Given the description of an element on the screen output the (x, y) to click on. 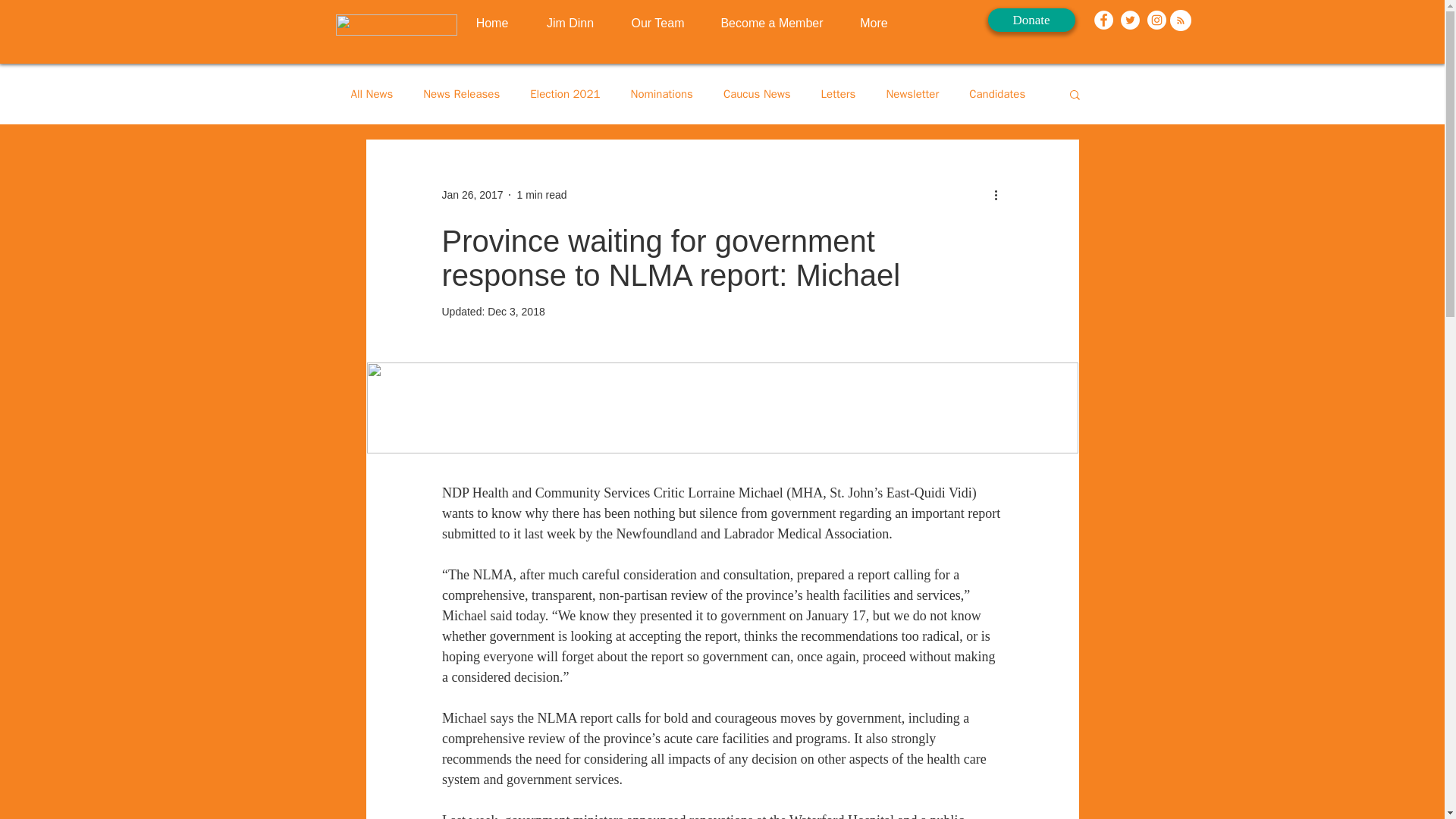
Jim Dinn (569, 23)
1 min read (541, 193)
Jan 26, 2017 (471, 193)
News Releases (461, 93)
Candidates (997, 93)
Donate (1030, 19)
Election 2021 (564, 93)
Newsletter (912, 93)
Nominations (661, 93)
Become a Member (770, 23)
